Given the description of an element on the screen output the (x, y) to click on. 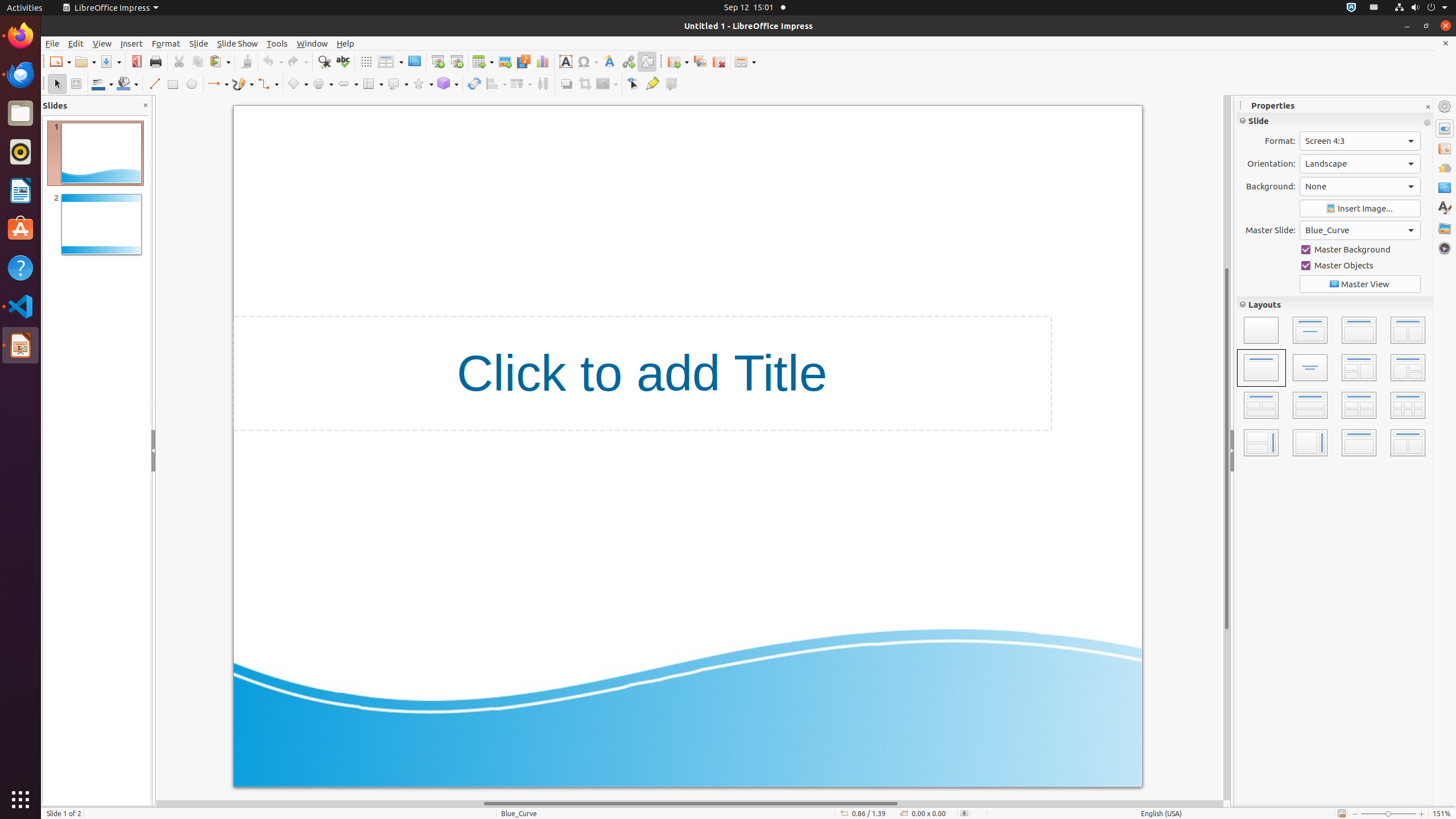
LibreOffice Impress Element type: menu (109, 7)
Animation Element type: radio-button (1444, 168)
Arrow Shapes Element type: push-button (347, 83)
Insert Element type: menu (131, 43)
Tools Element type: menu (277, 43)
